Given the description of an element on the screen output the (x, y) to click on. 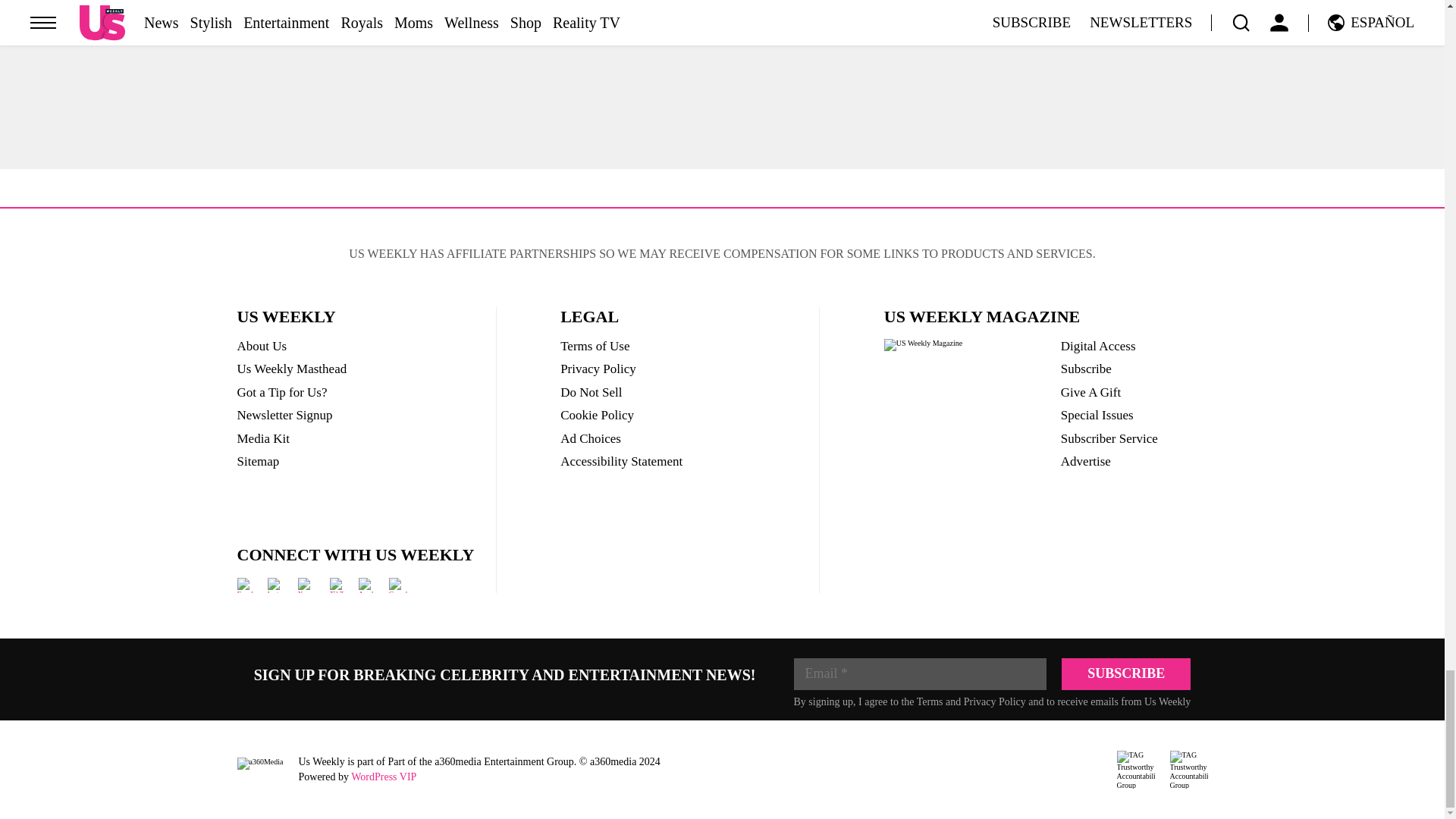
TAG Certified Against Fraud (1188, 769)
TAG Registered (1135, 769)
